Given the description of an element on the screen output the (x, y) to click on. 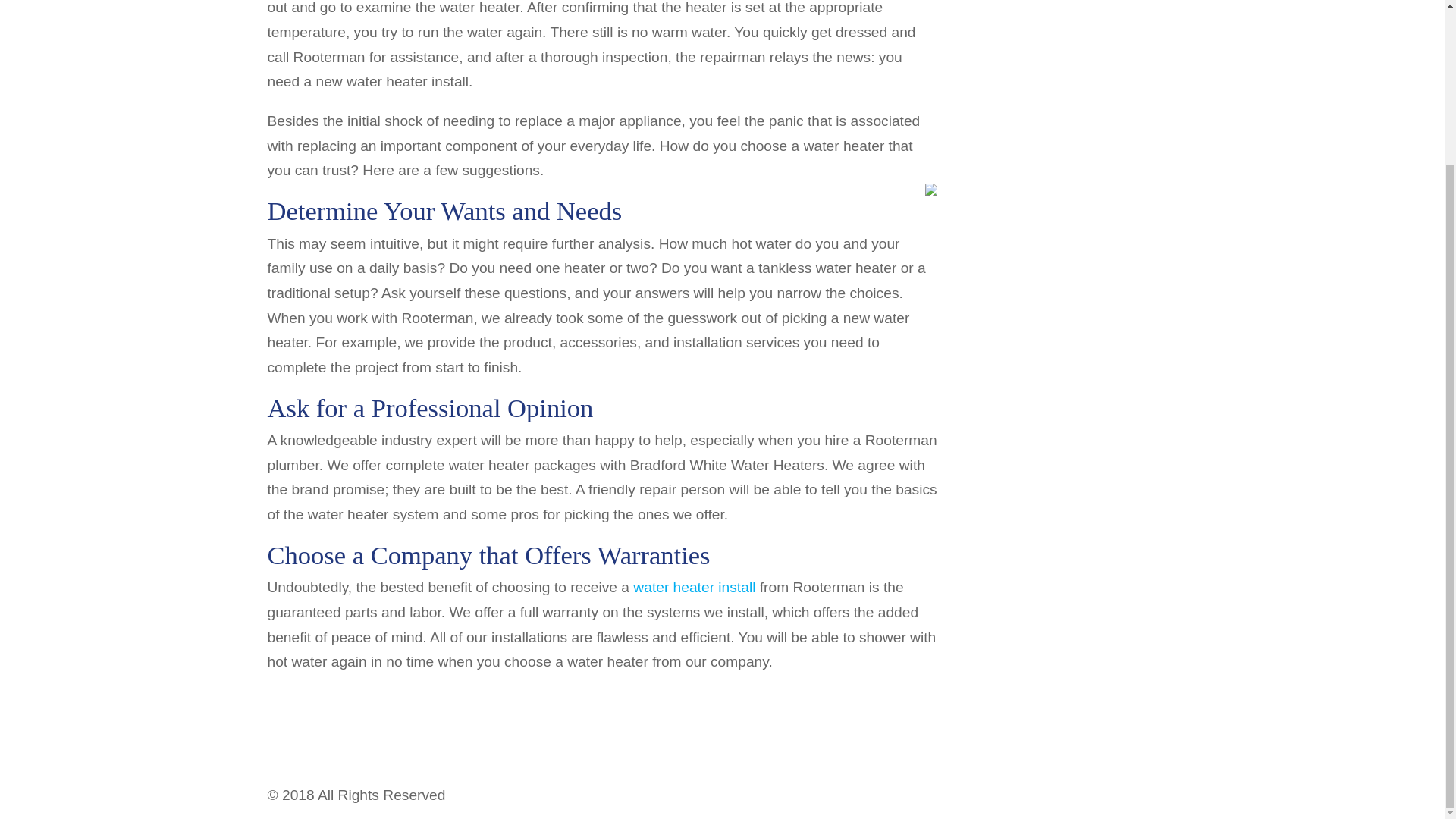
water heater install (694, 587)
